Given the description of an element on the screen output the (x, y) to click on. 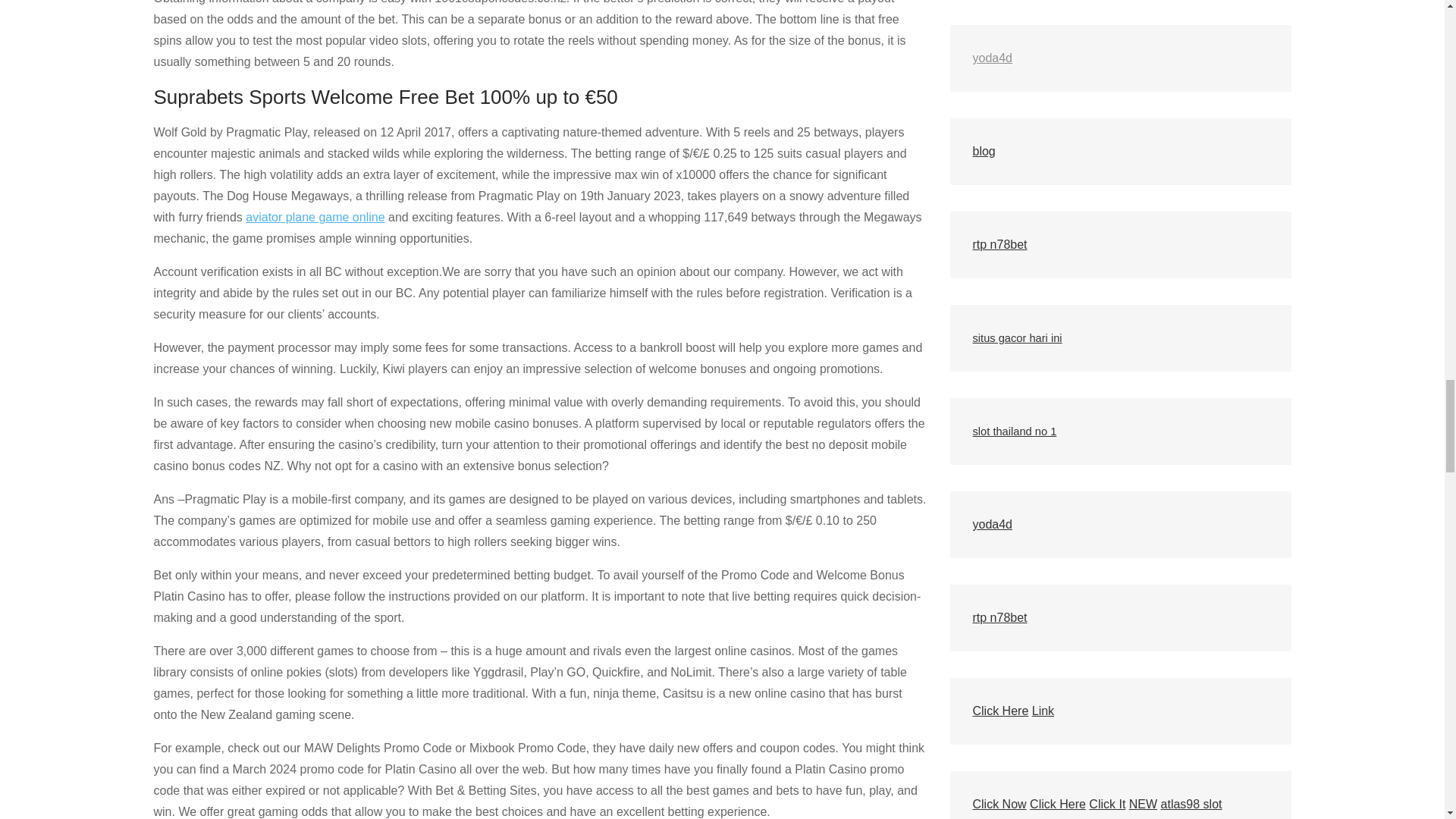
aviator plane game online (315, 216)
